Given the description of an element on the screen output the (x, y) to click on. 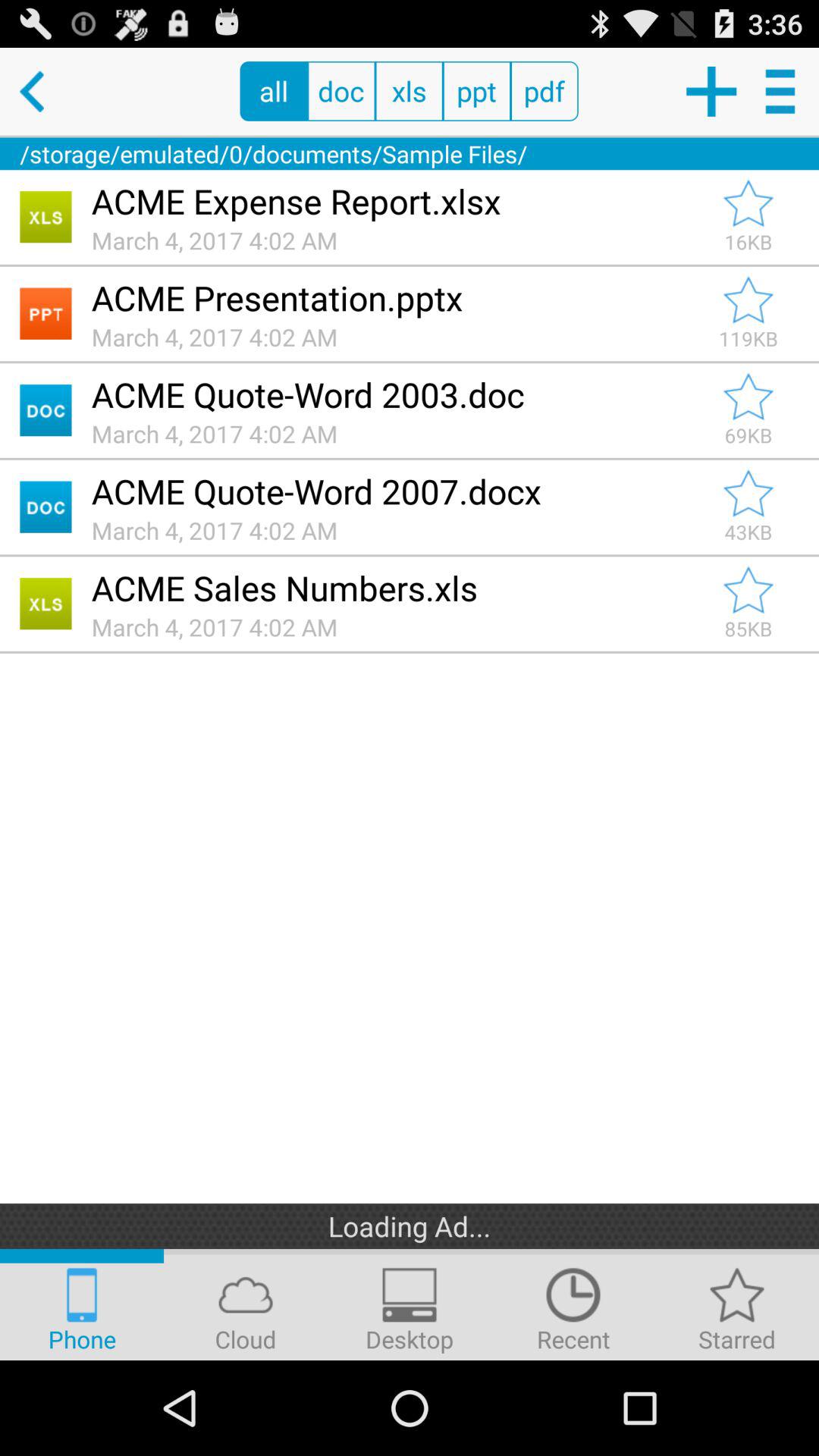
choose icon to the left of doc radio button (273, 91)
